Given the description of an element on the screen output the (x, y) to click on. 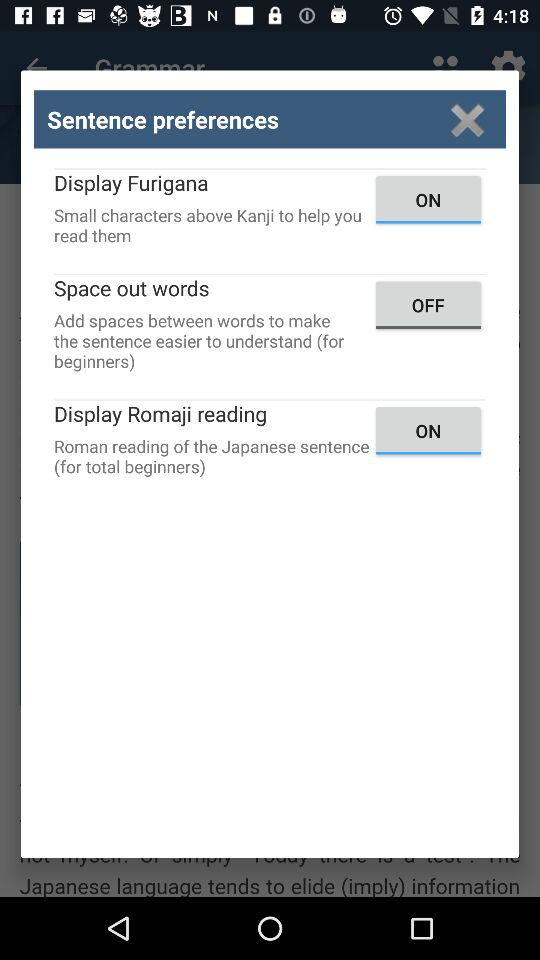
close window (467, 119)
